Given the description of an element on the screen output the (x, y) to click on. 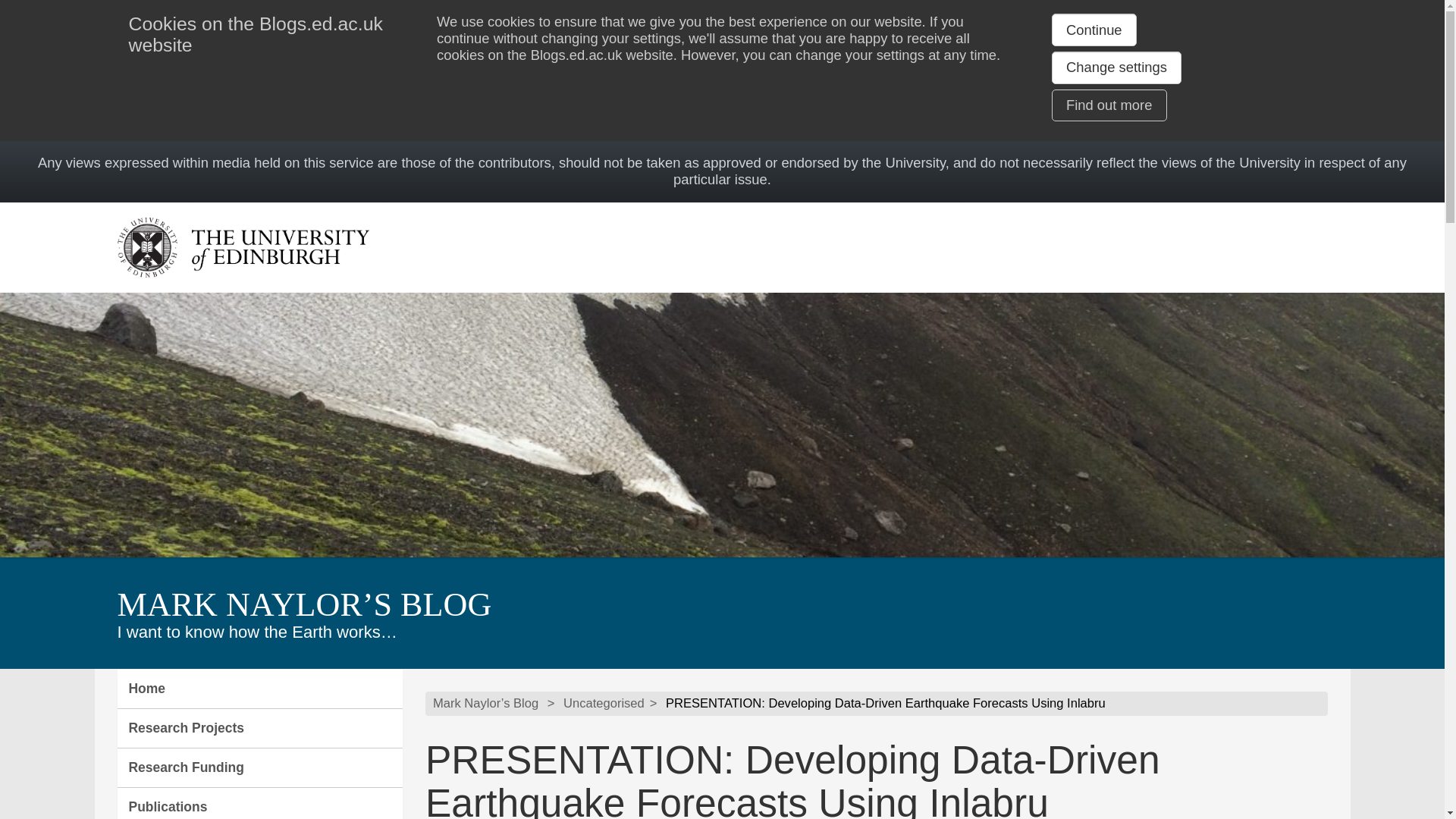
Research Funding (259, 767)
Go to this blog's homepage. (485, 703)
Research Projects (259, 728)
Continue (1094, 29)
Home (259, 689)
Change settings (1116, 67)
Research Projects (259, 728)
Research Funding (259, 767)
Find out more (1109, 105)
Publications (259, 803)
Publications (259, 803)
Home (259, 689)
